Given the description of an element on the screen output the (x, y) to click on. 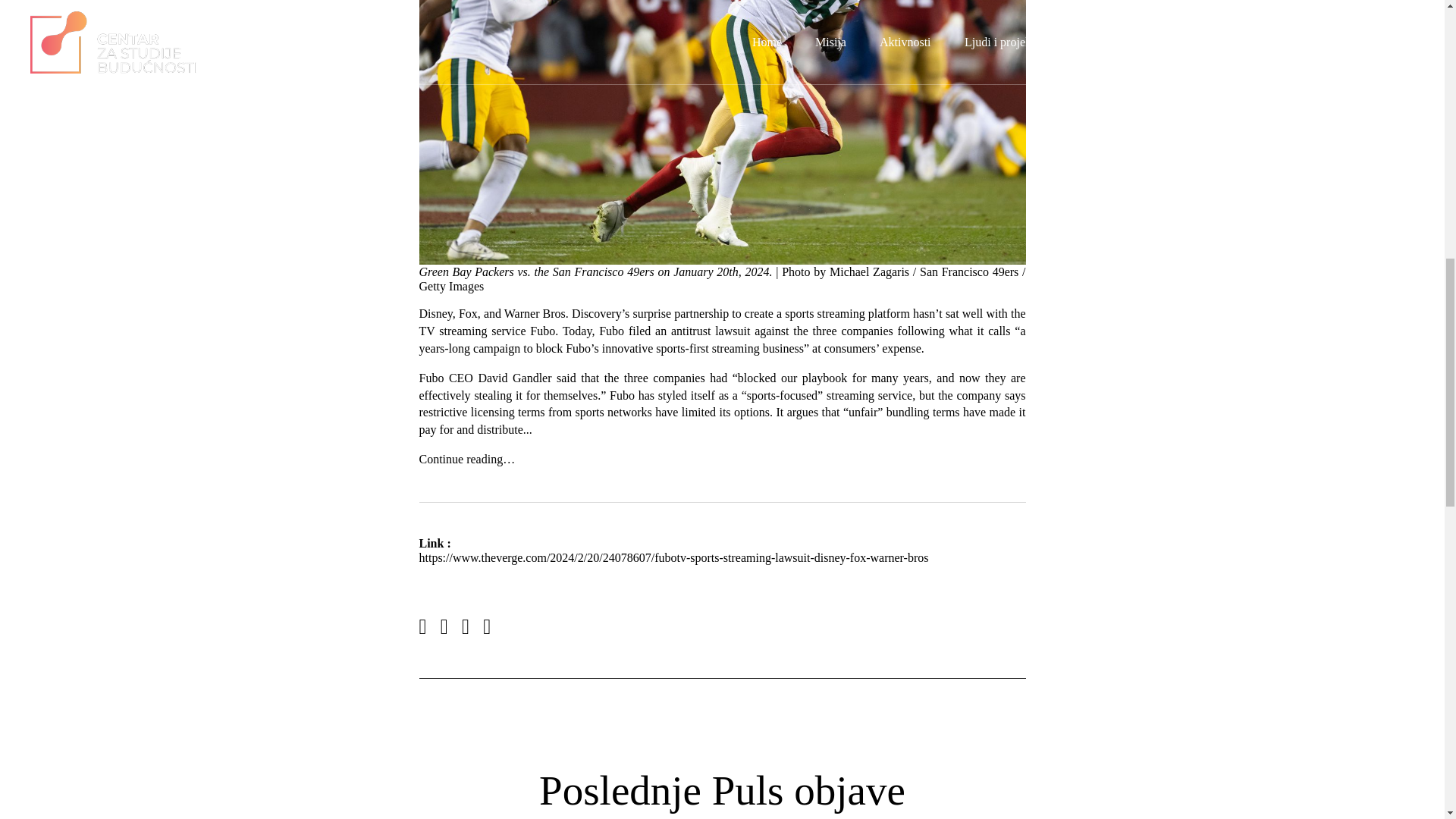
surprise partnership (680, 313)
said that (577, 377)
